Given the description of an element on the screen output the (x, y) to click on. 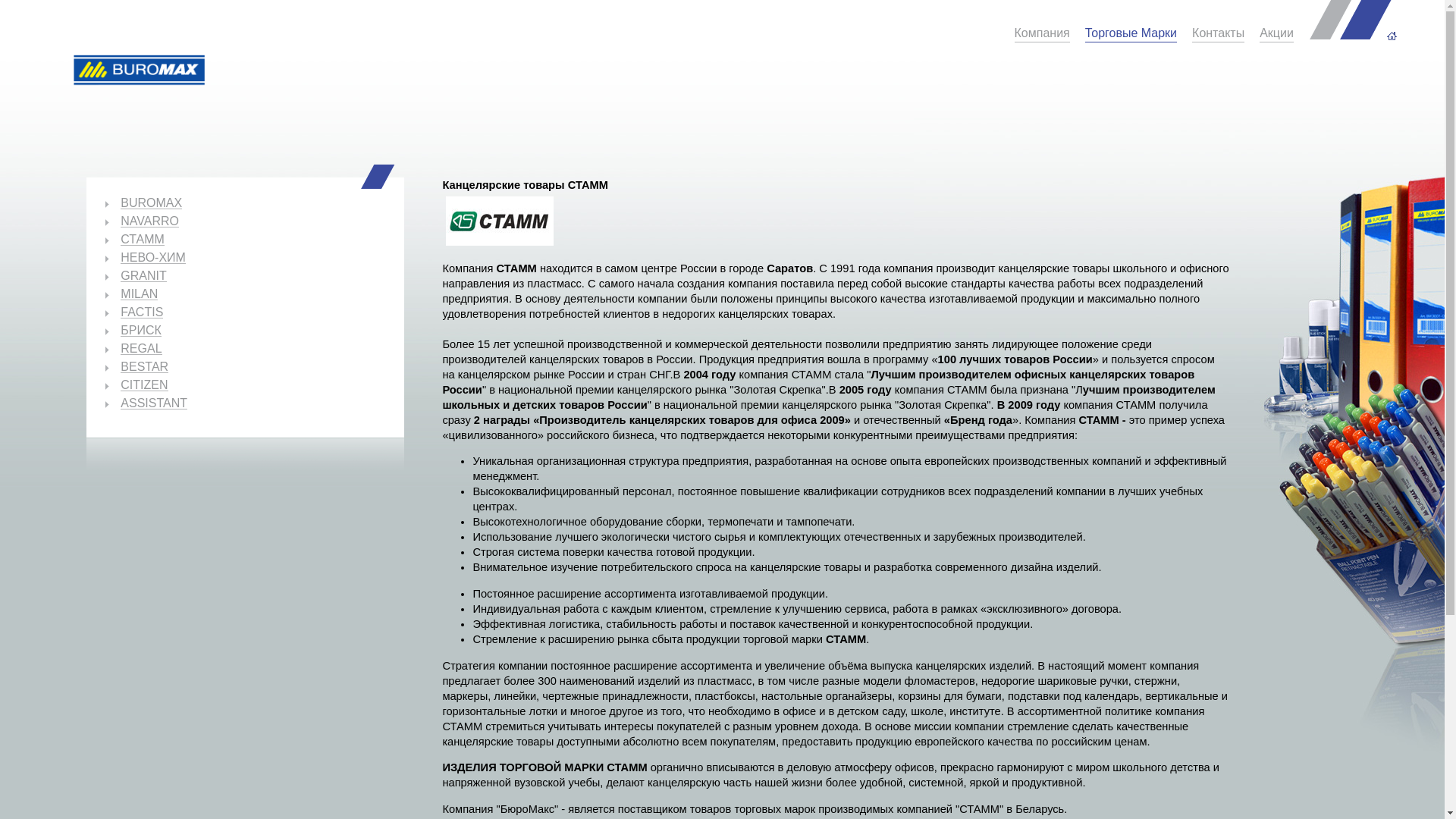
REGAL Element type: text (140, 348)
CITIZEN Element type: text (143, 384)
BESTAR Element type: text (144, 366)
FACTIS Element type: text (141, 311)
ASSISTANT Element type: text (153, 402)
MILAN Element type: text (138, 293)
BUROMAX Element type: text (151, 202)
NAVARRO Element type: text (149, 220)
GRANIT Element type: text (143, 275)
